Given the description of an element on the screen output the (x, y) to click on. 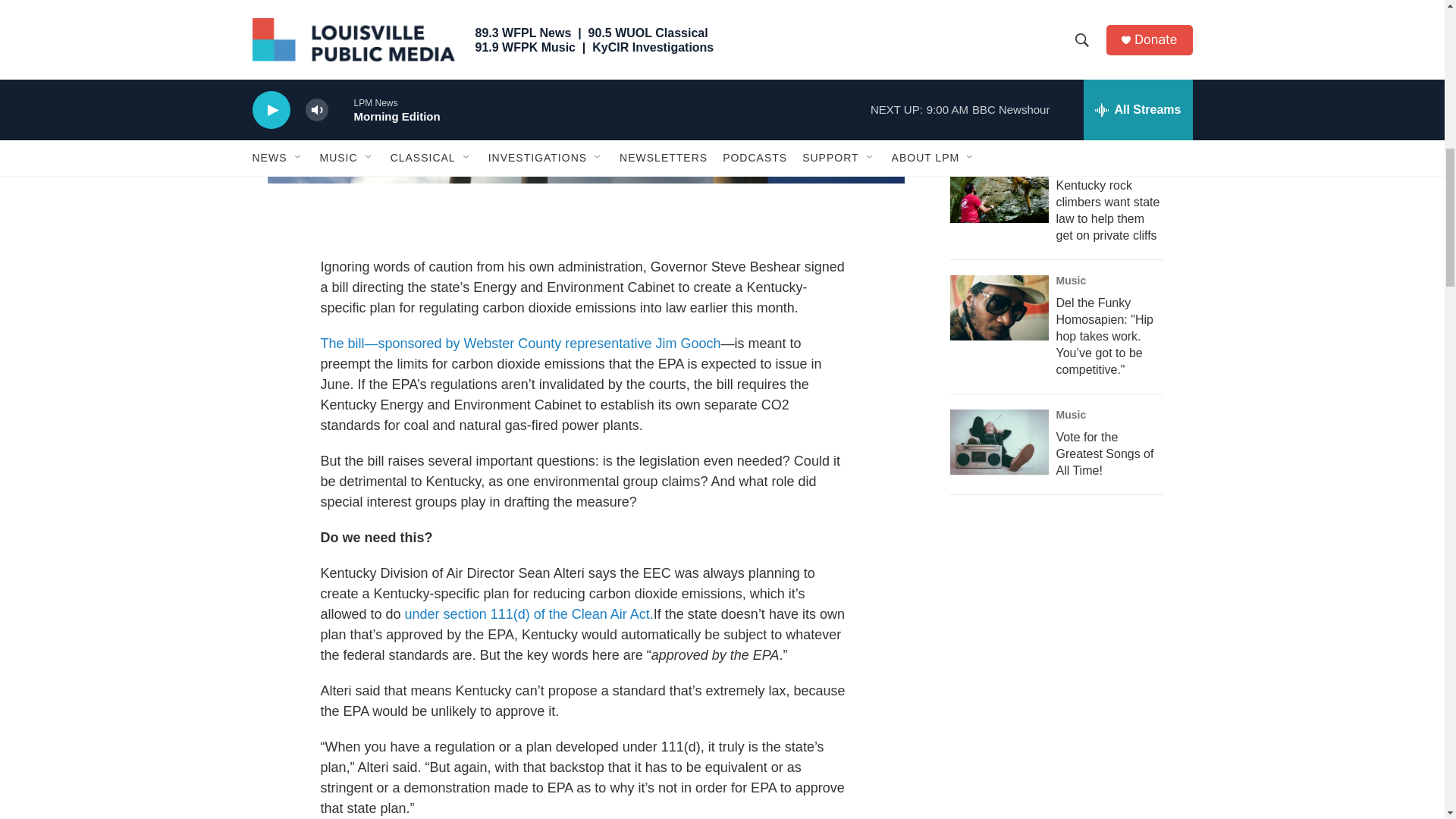
3rd party ad content (1062, 2)
3rd party ad content (1062, 782)
3rd party ad content (1062, 619)
